Given the description of an element on the screen output the (x, y) to click on. 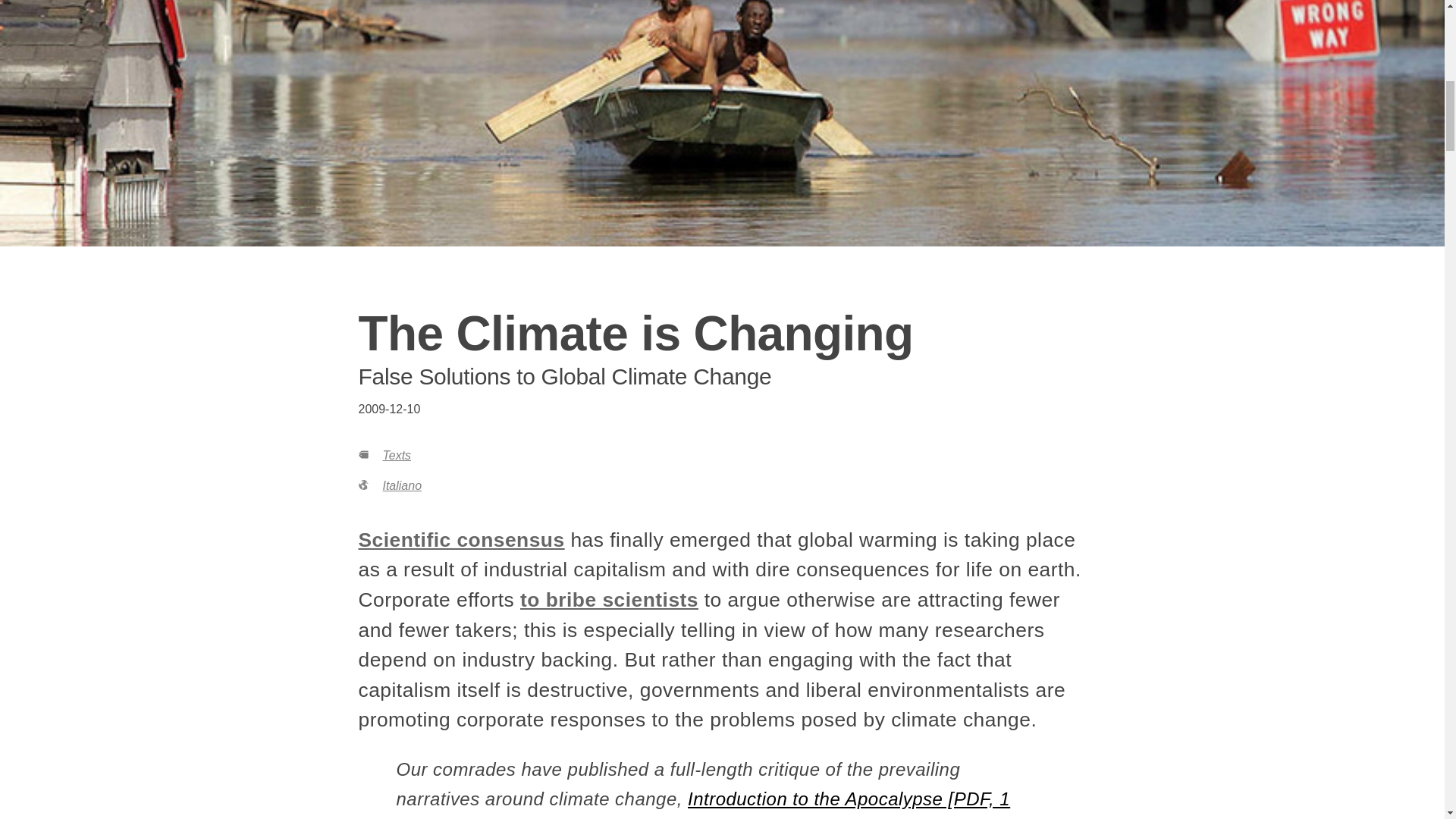
Italiano (401, 485)
Texts (395, 454)
Scientific consensus (461, 539)
to bribe scientists (608, 599)
